Given the description of an element on the screen output the (x, y) to click on. 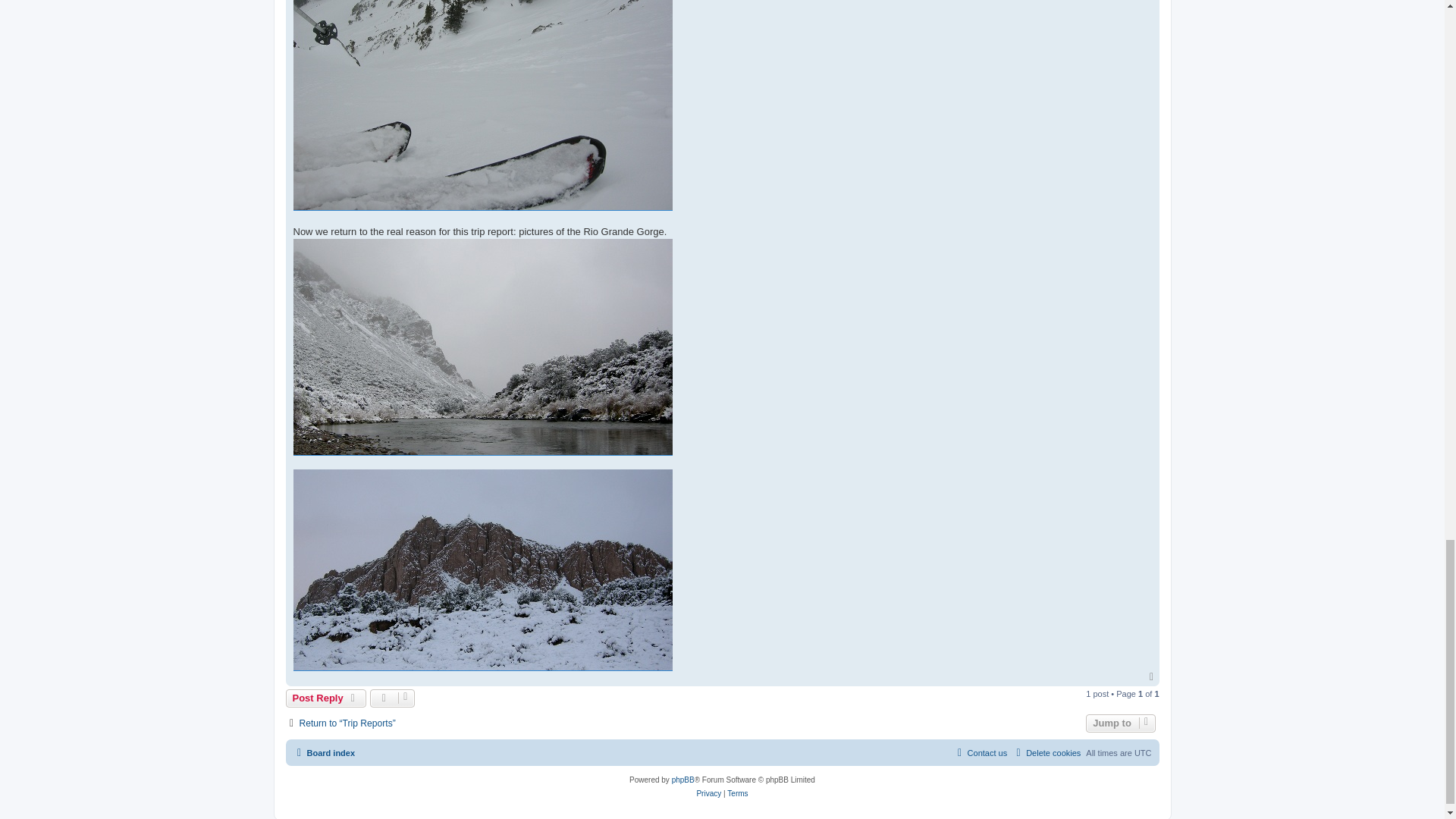
Post Reply (325, 698)
Top (1151, 676)
